Given the description of an element on the screen output the (x, y) to click on. 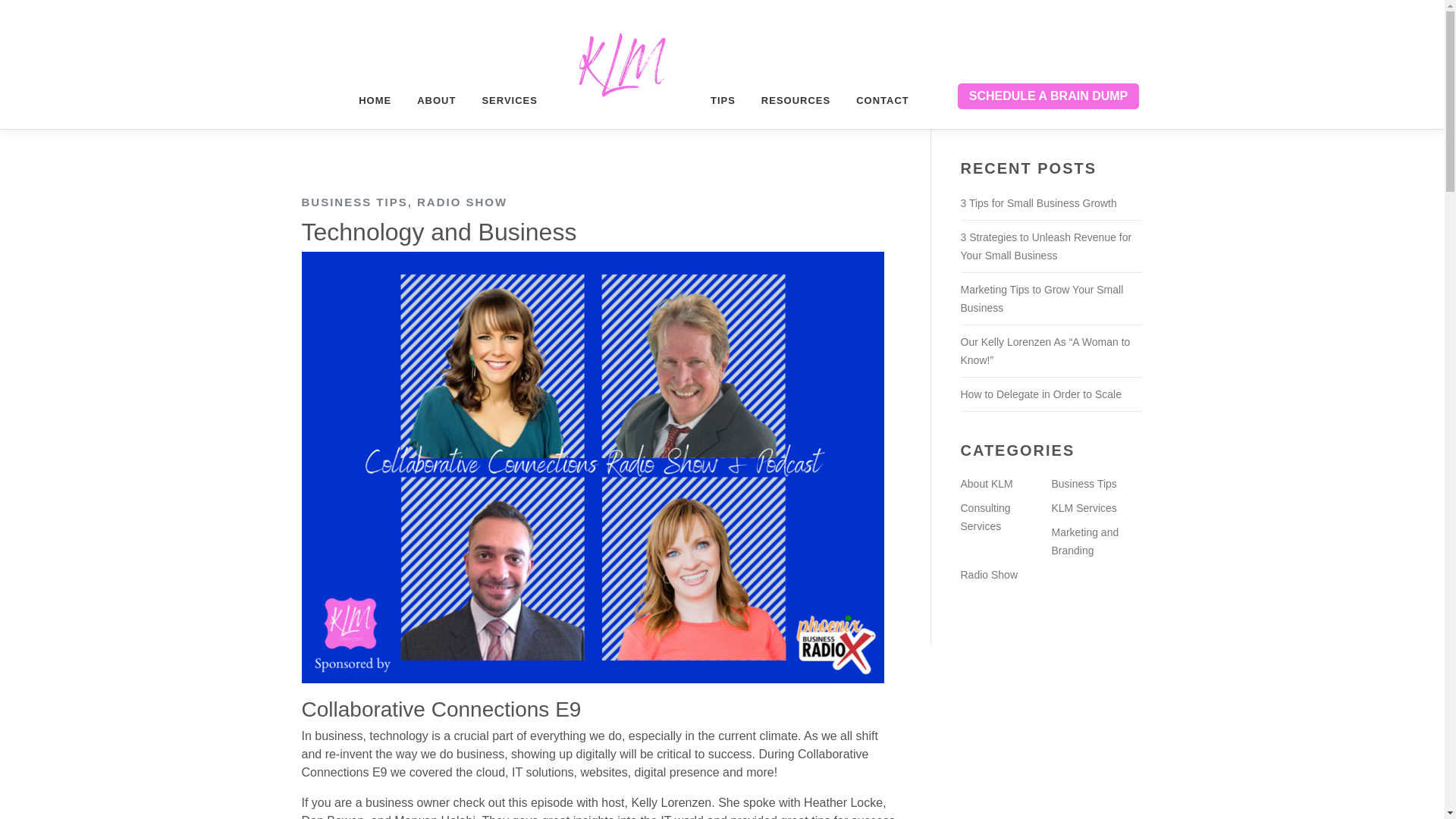
SERVICES (509, 100)
CONTACT (875, 100)
TIPS (722, 100)
SCHEDULE A BRAIN DUMP (1048, 95)
ABOUT (436, 100)
MOD Squad Dental (1048, 95)
RESOURCES (795, 100)
HOME (375, 100)
